Given the description of an element on the screen output the (x, y) to click on. 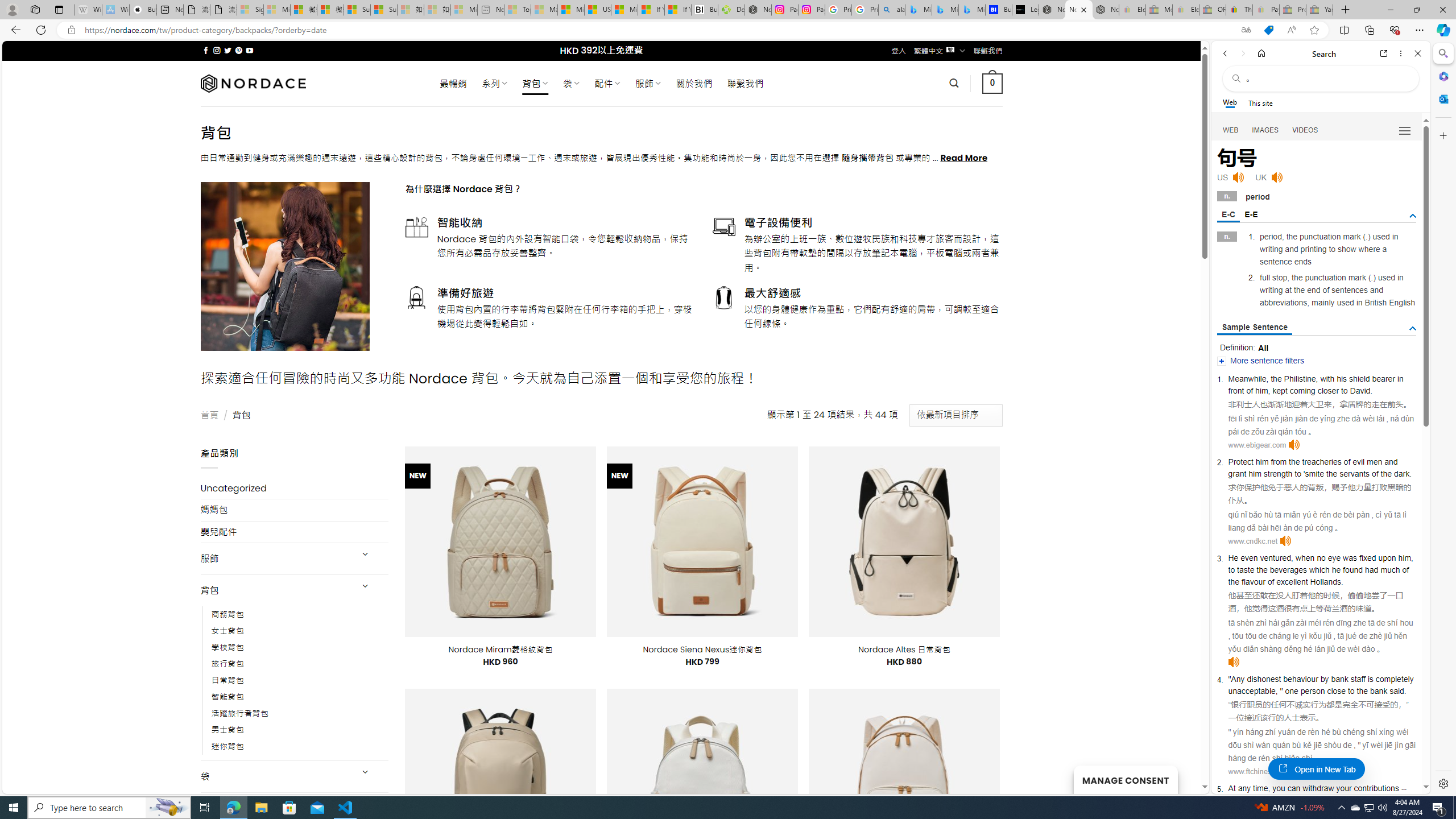
even (1248, 557)
www.cndkc.net (1252, 541)
Uncategorized (294, 488)
